Given the description of an element on the screen output the (x, y) to click on. 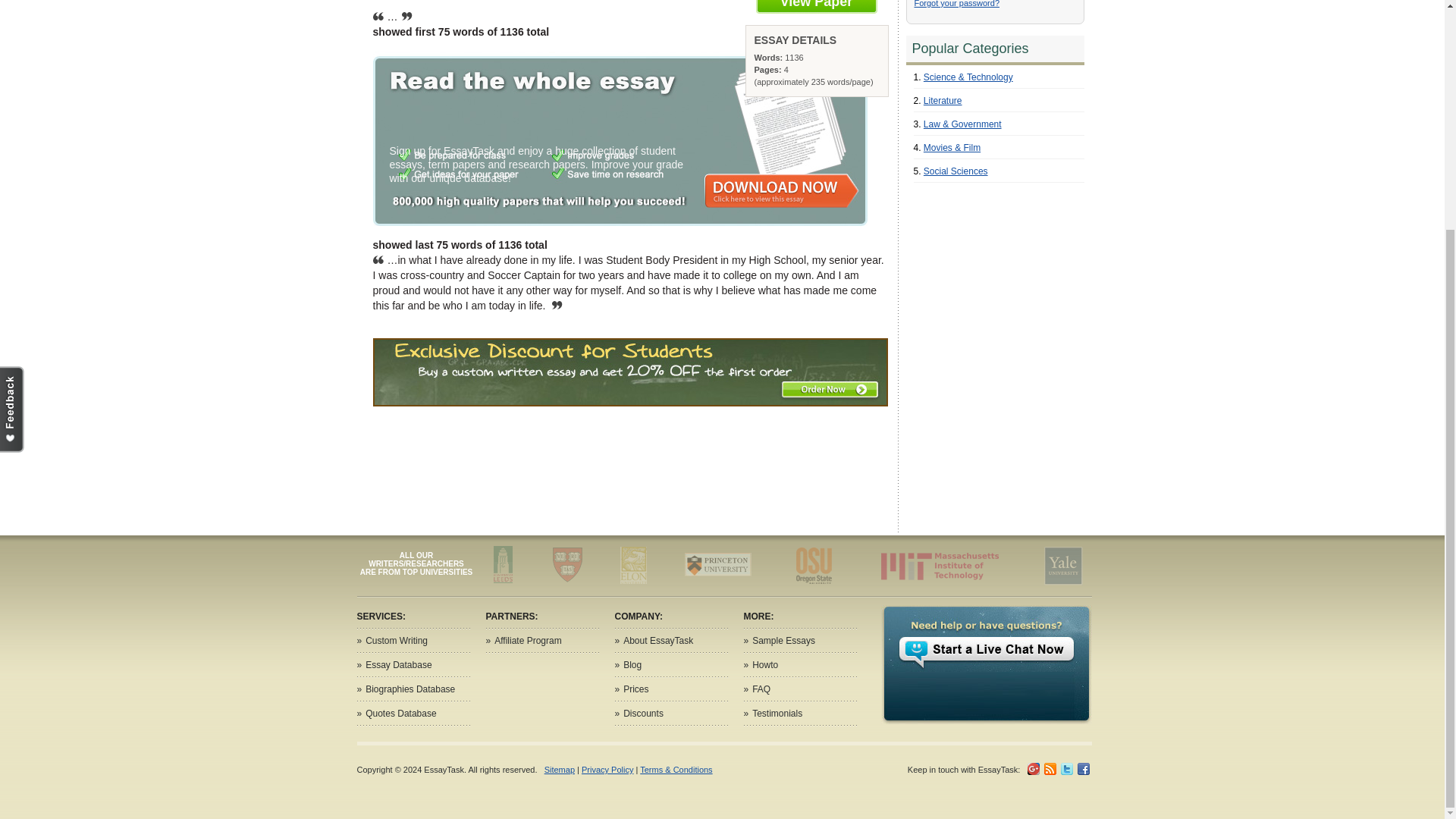
View Paper (815, 6)
Biographies Database (409, 688)
About EssayTask (658, 640)
Forgot your password? (957, 3)
Sitemap (559, 768)
Testimonials (777, 713)
Quotes Database (400, 713)
Affiliate Program (527, 640)
FAQ (761, 688)
